Given the description of an element on the screen output the (x, y) to click on. 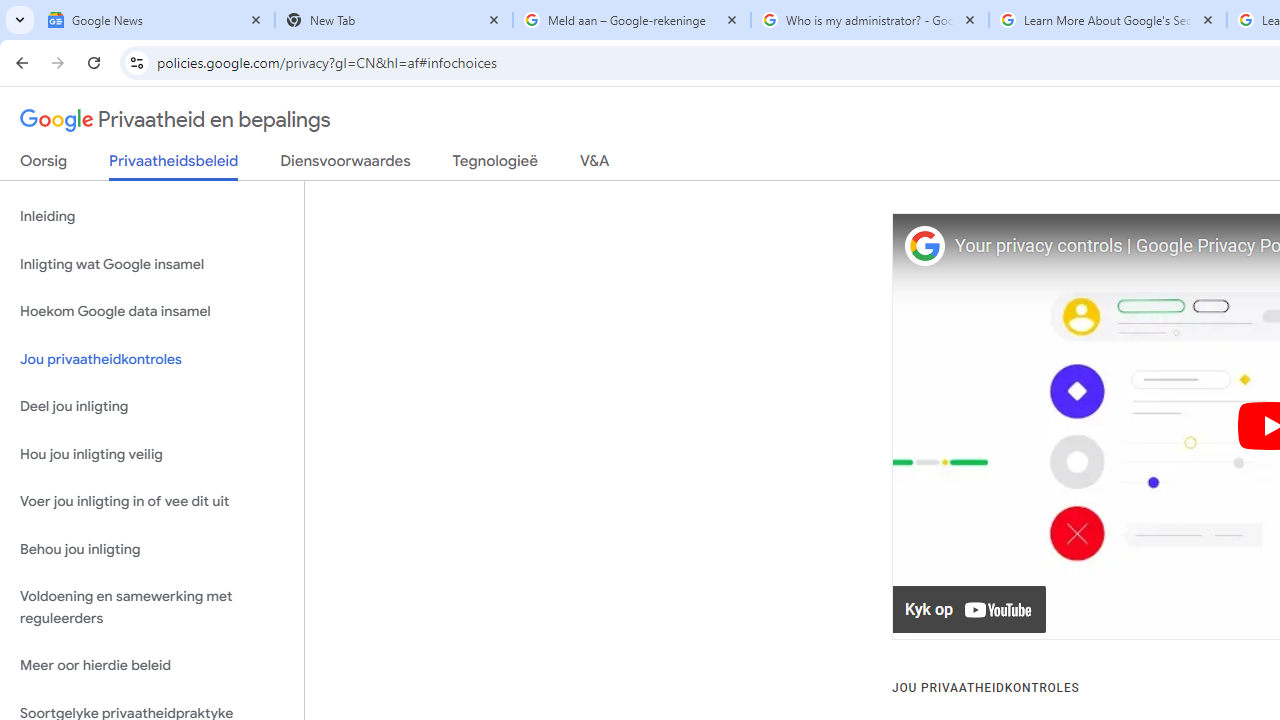
Voldoening en samewerking met reguleerders (152, 607)
Who is my administrator? - Google Account Help (870, 20)
New Tab (394, 20)
Fotobeeld van Google (924, 246)
Hou jou inligting veilig (152, 453)
Voer jou inligting in of vee dit uit (152, 502)
Inleiding (152, 216)
Diensvoorwaardes (345, 165)
Jou privaatheidkontroles (152, 358)
Behou jou inligting (152, 548)
Meer oor hierdie beleid (152, 666)
